Given the description of an element on the screen output the (x, y) to click on. 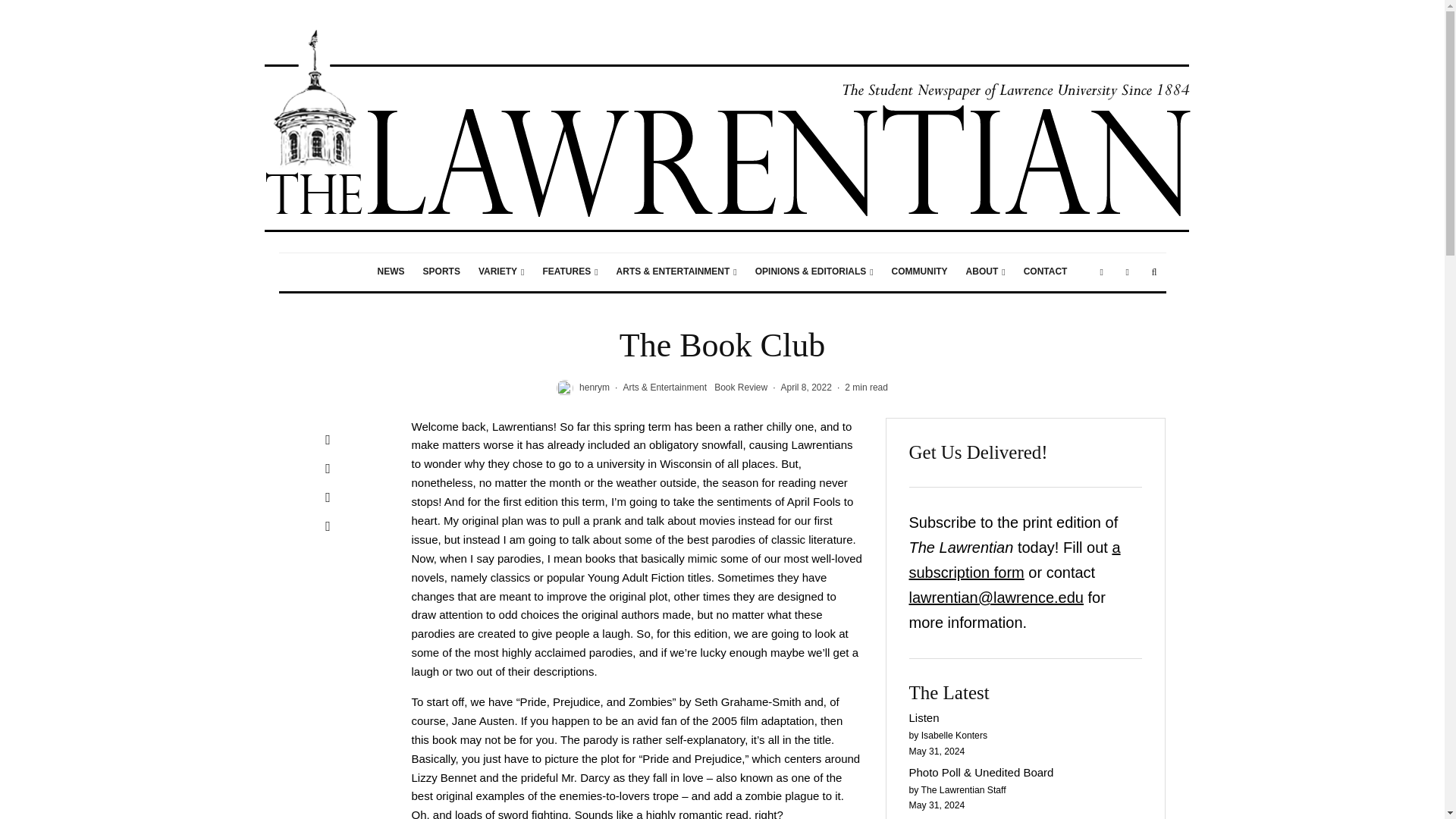
Posts by henrym (594, 387)
NEWS (390, 272)
FEATURES (569, 272)
SPORTS (440, 272)
VARIETY (501, 272)
